Given the description of an element on the screen output the (x, y) to click on. 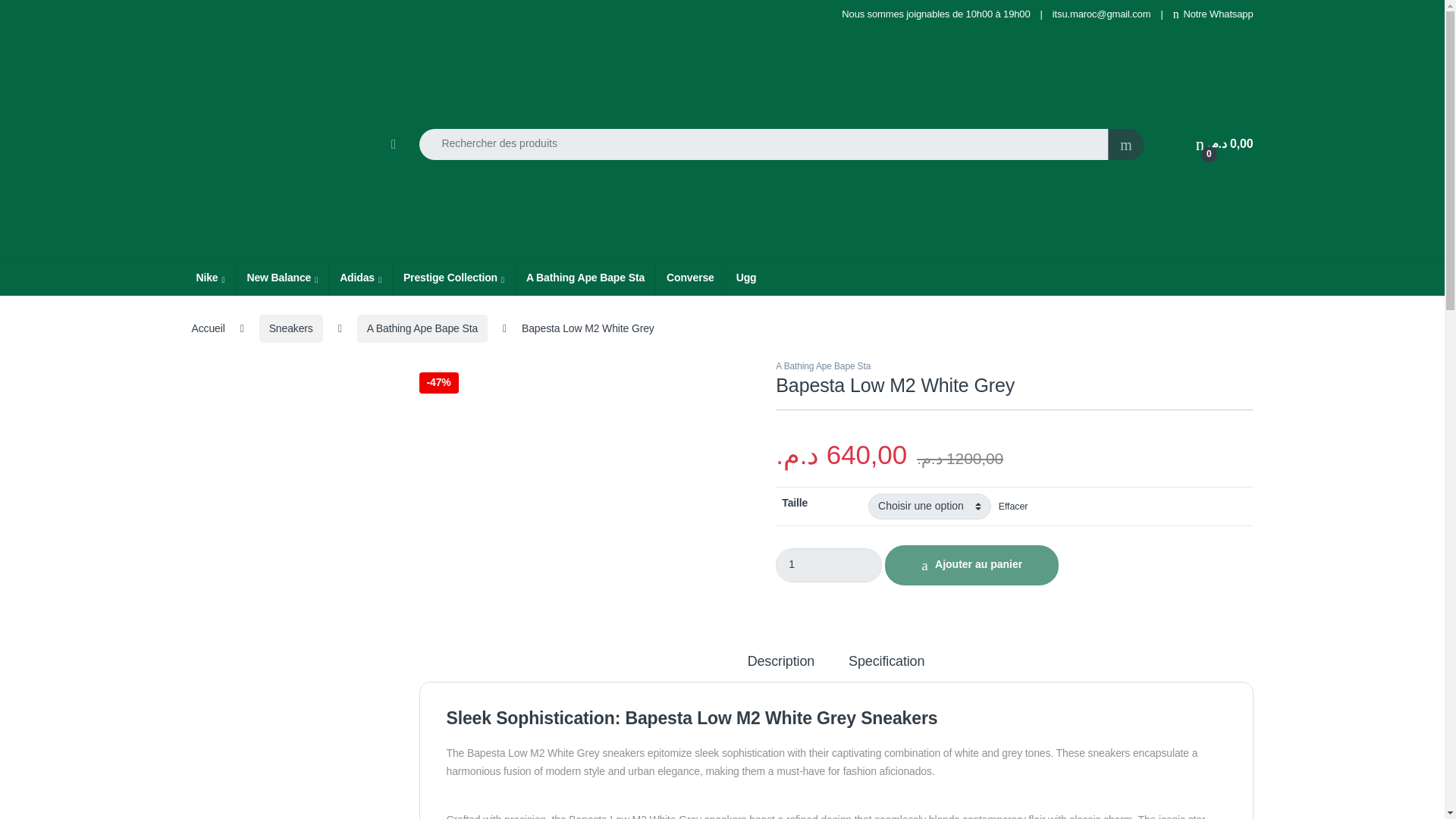
Notre Whatsapp (1213, 13)
Notre Whatsapp (1213, 13)
1 (829, 564)
